Given the description of an element on the screen output the (x, y) to click on. 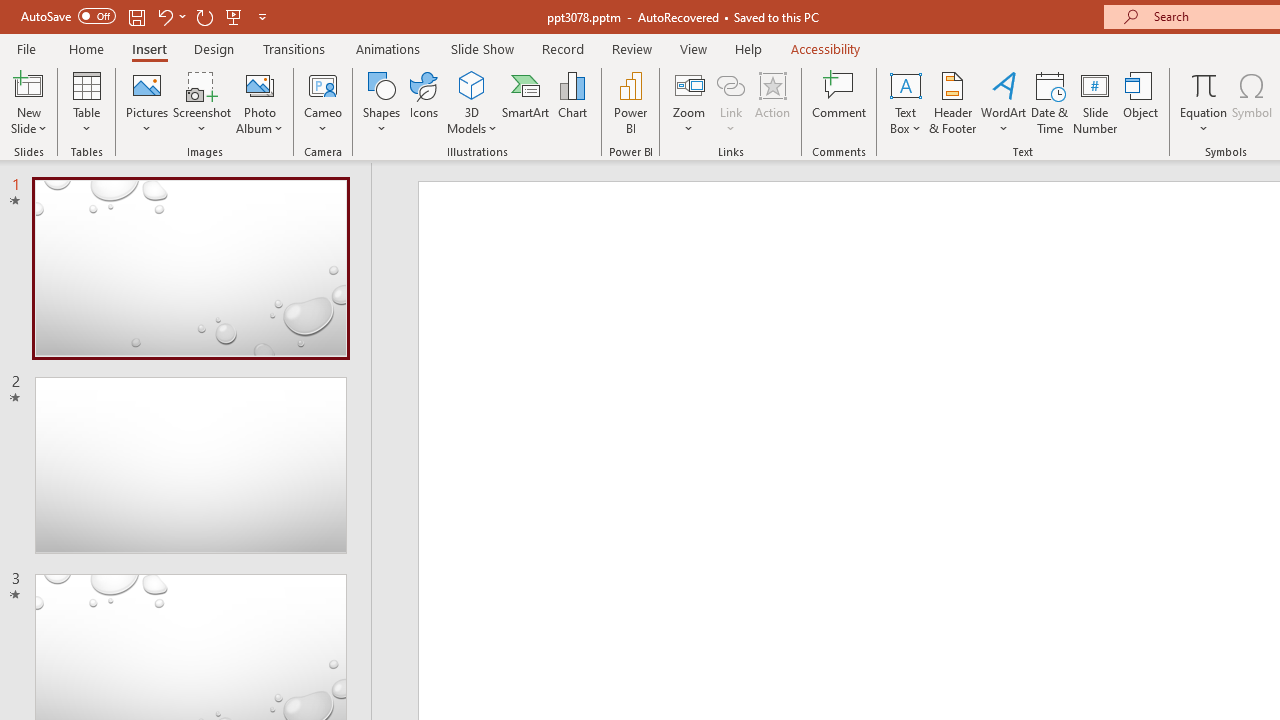
SmartArt... (525, 102)
Link (731, 84)
Screenshot (202, 102)
Action (772, 102)
Symbol... (1252, 102)
Draw Horizontal Text Box (905, 84)
Header & Footer... (952, 102)
New Photo Album... (259, 84)
